Given the description of an element on the screen output the (x, y) to click on. 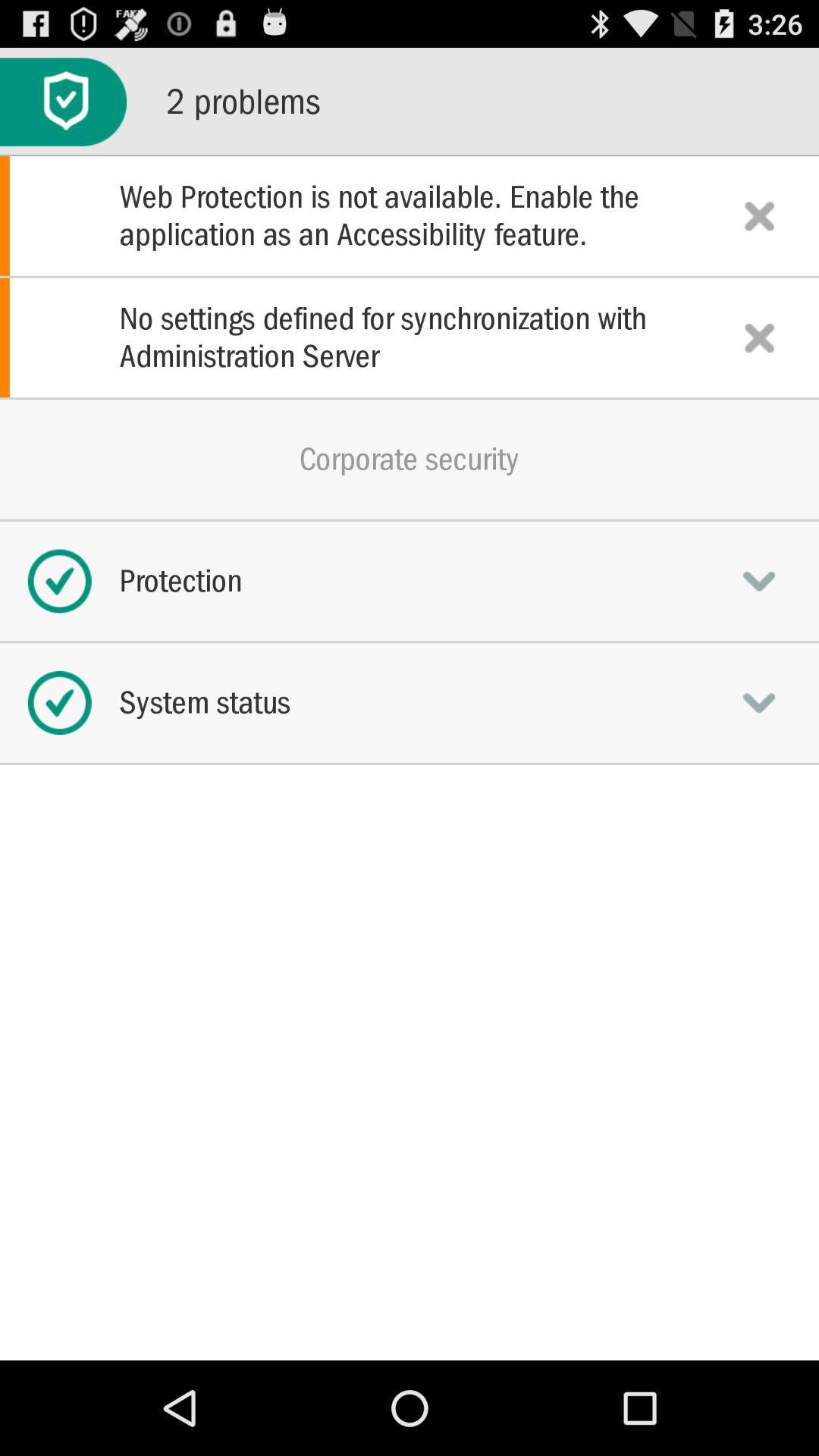
select the item above the corporate security icon (409, 337)
